Given the description of an element on the screen output the (x, y) to click on. 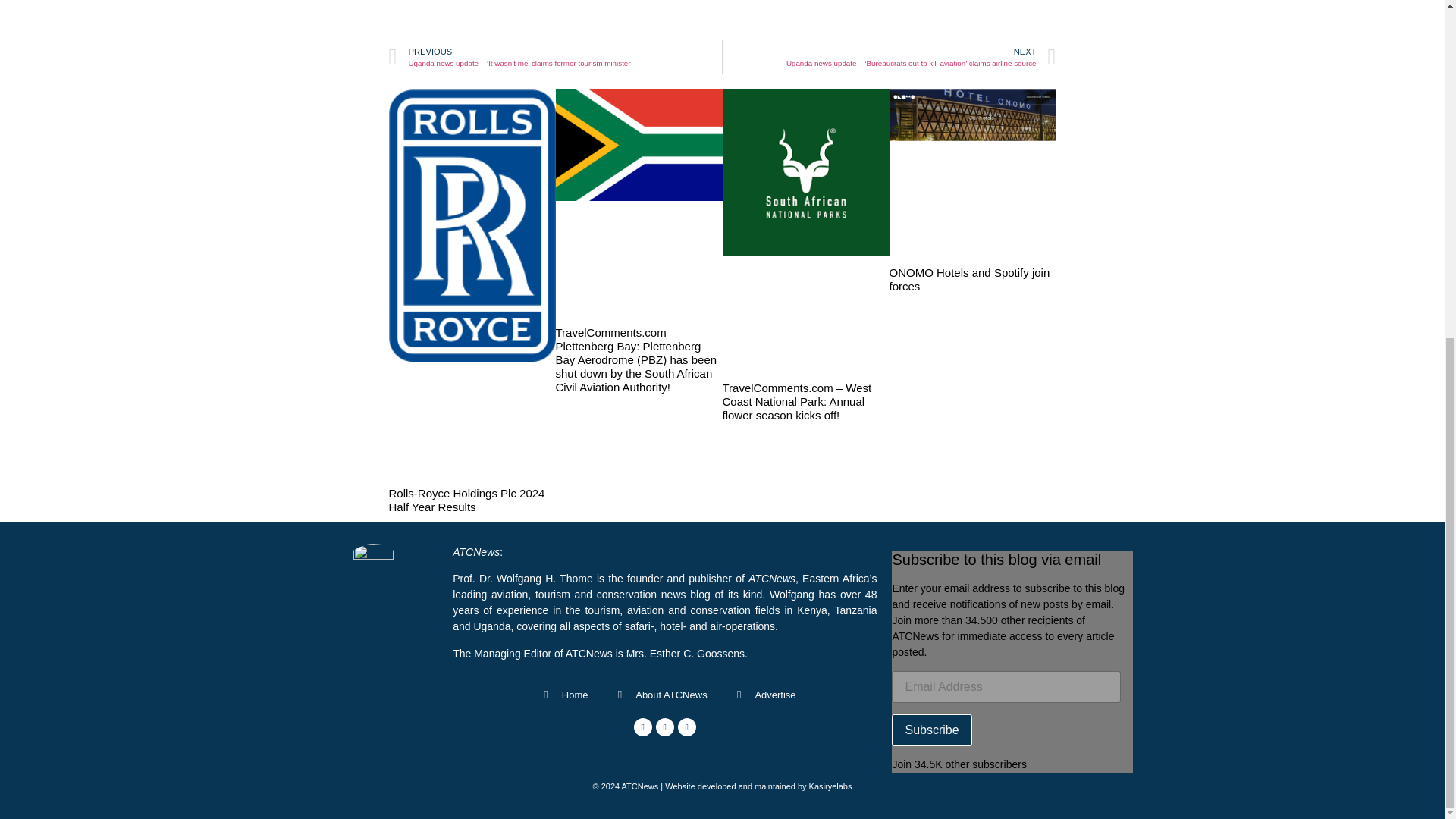
Advertise (761, 694)
Rolls-Royce Holdings Plc 2024 Half Year Results (466, 499)
Subscribe (931, 730)
About ATCNews (656, 694)
asiryelabs (832, 786)
Home (561, 694)
ONOMO Hotels and Spotify join forces (968, 279)
